Given the description of an element on the screen output the (x, y) to click on. 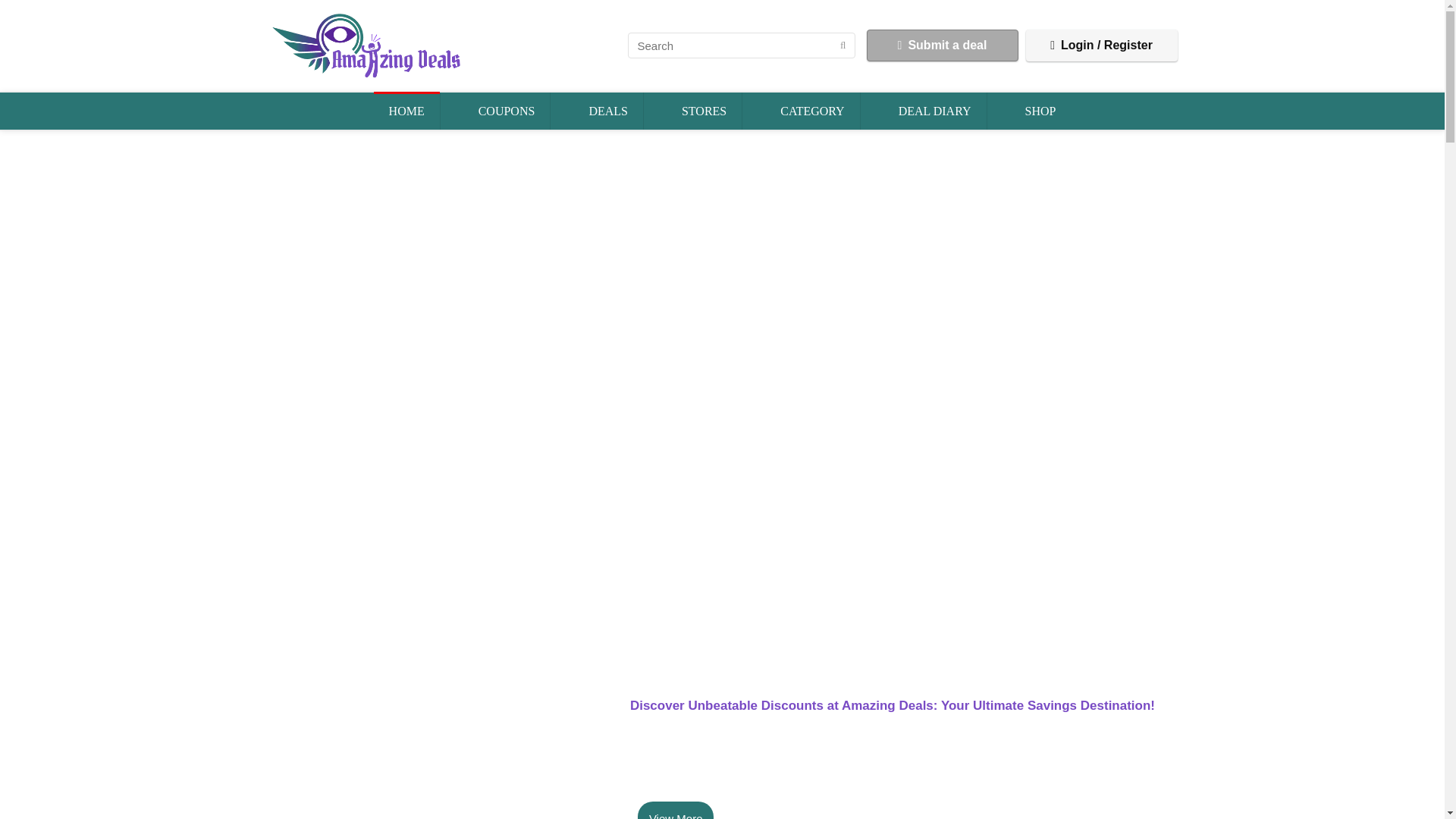
DEAL DIARY (935, 110)
STORES (703, 110)
HOME (406, 110)
COUPONS (506, 110)
DEALS (608, 110)
CATEGORY (812, 110)
SHOP (1040, 110)
View More (675, 809)
Submit a deal (941, 45)
